Given the description of an element on the screen output the (x, y) to click on. 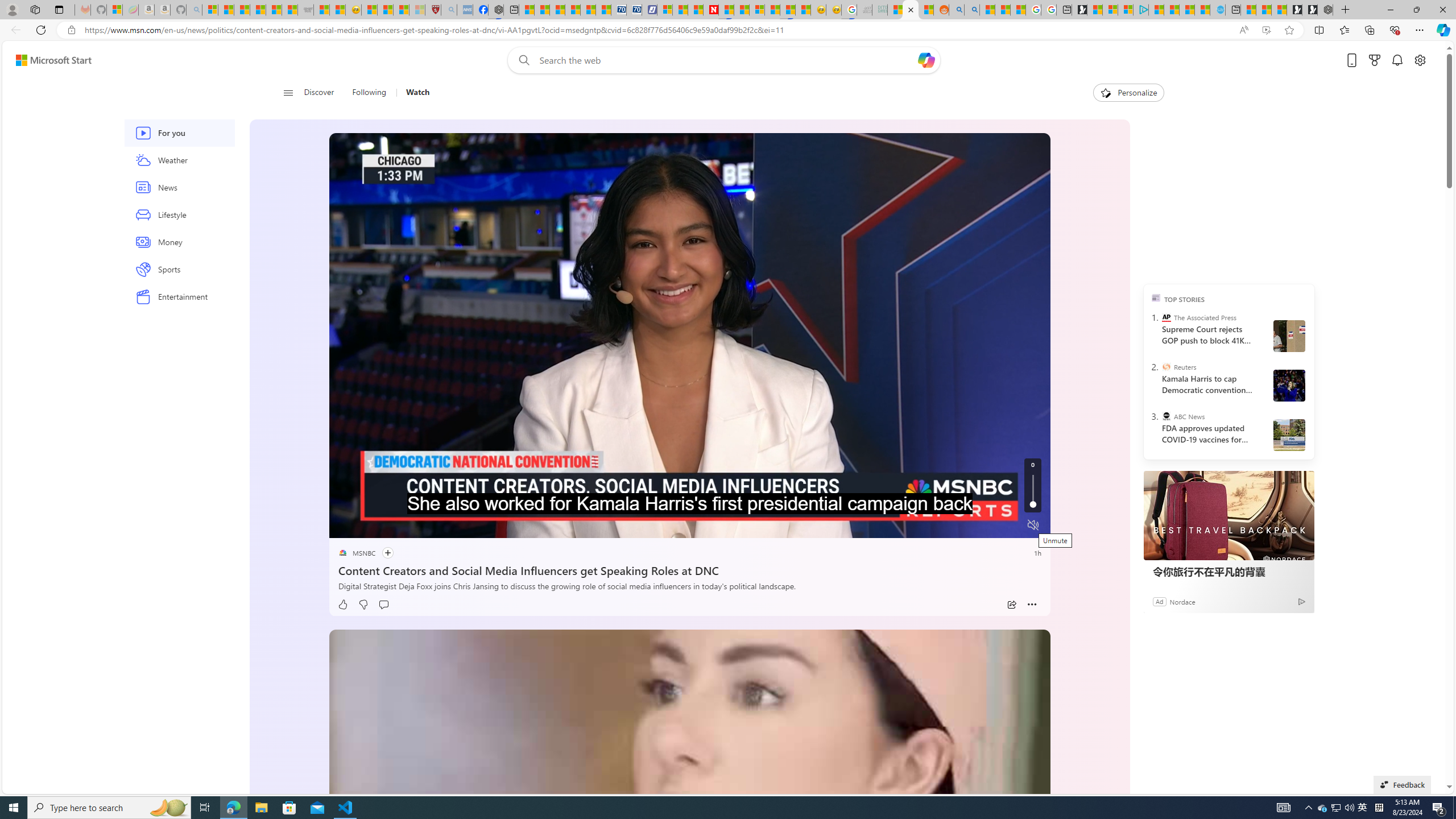
The Weather Channel - MSN (241, 9)
Captions (988, 525)
Seek Back (368, 525)
Pause (346, 525)
Enhance video (1266, 29)
Watch (417, 92)
